Given the description of an element on the screen output the (x, y) to click on. 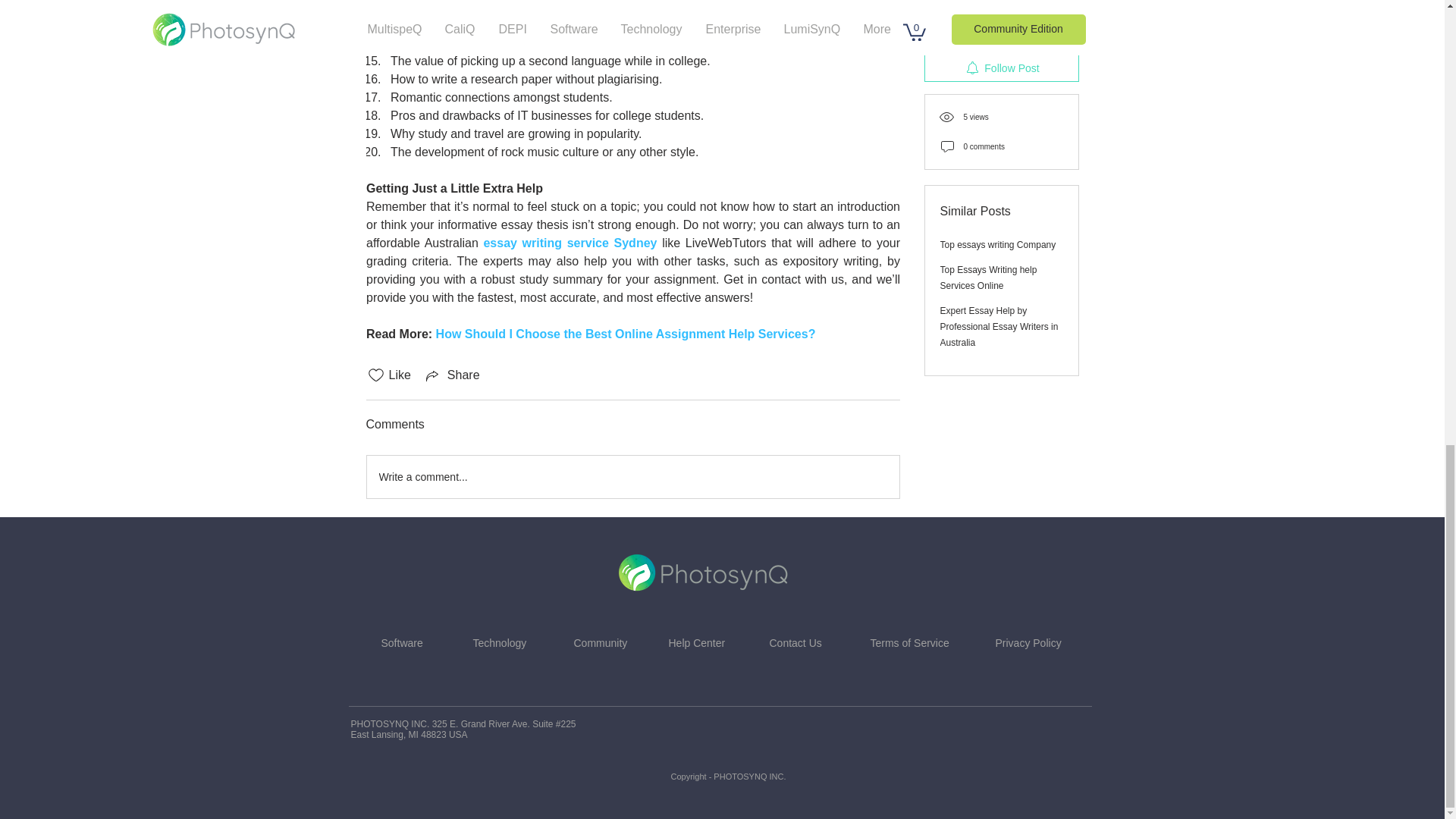
Write a comment... (632, 476)
Help Center (696, 643)
Share (451, 375)
Community (600, 643)
Contact Us (794, 643)
Software (401, 643)
Terms of Service (909, 643)
essay writing service Sydney (569, 242)
Technology (500, 643)
